Given the description of an element on the screen output the (x, y) to click on. 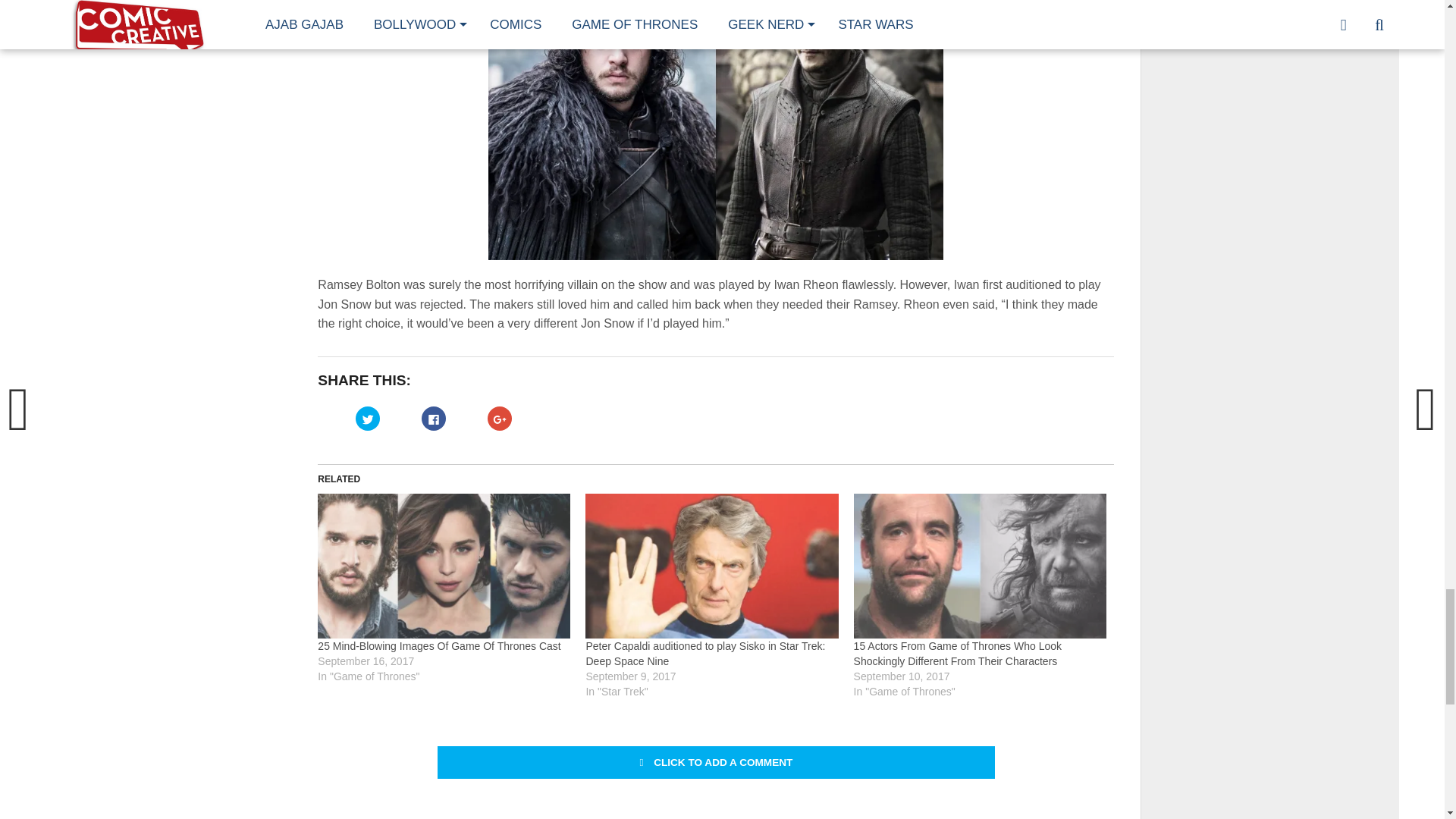
Click to share on Twitter (367, 418)
Click to share on Facebook (433, 418)
25 Mind-Blowing Images Of Game Of Thrones Cast (438, 645)
